Given the description of an element on the screen output the (x, y) to click on. 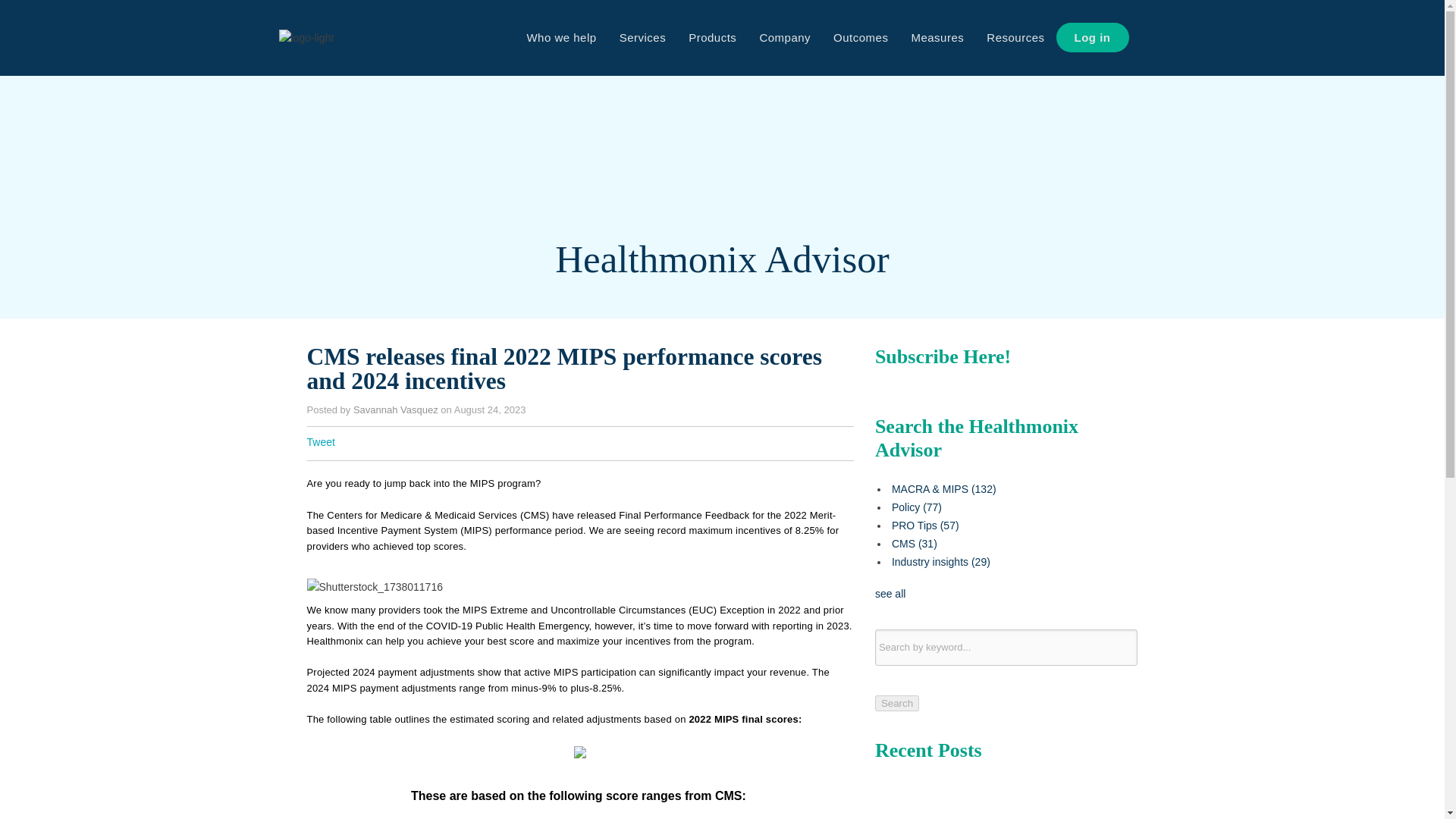
logo-light (306, 37)
Savannah Vasquez (395, 409)
Log in (1091, 37)
Tweet (319, 441)
Outcomes (860, 38)
Measures (937, 38)
Company (785, 38)
Resources (1015, 38)
Products (712, 38)
Services (643, 38)
